Given the description of an element on the screen output the (x, y) to click on. 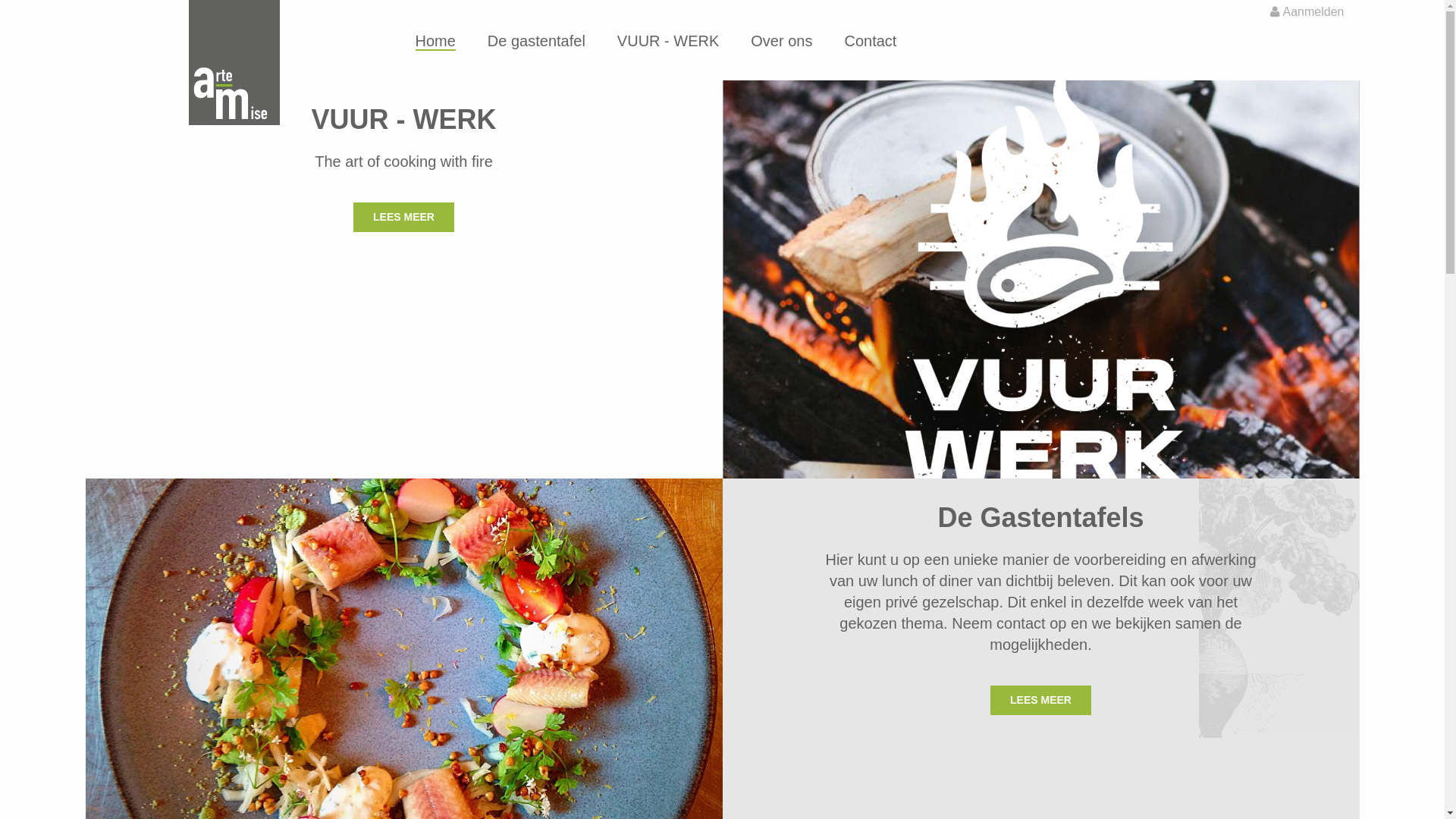
VUUR - WERK Element type: text (667, 41)
Aanmelden Element type: text (1307, 11)
Contact Element type: text (870, 41)
LEES MEER Element type: text (403, 216)
Over ons Element type: text (781, 41)
LEES MEER Element type: text (1040, 699)
De gastentafel Element type: text (536, 41)
Home Element type: text (435, 41)
